Given the description of an element on the screen output the (x, y) to click on. 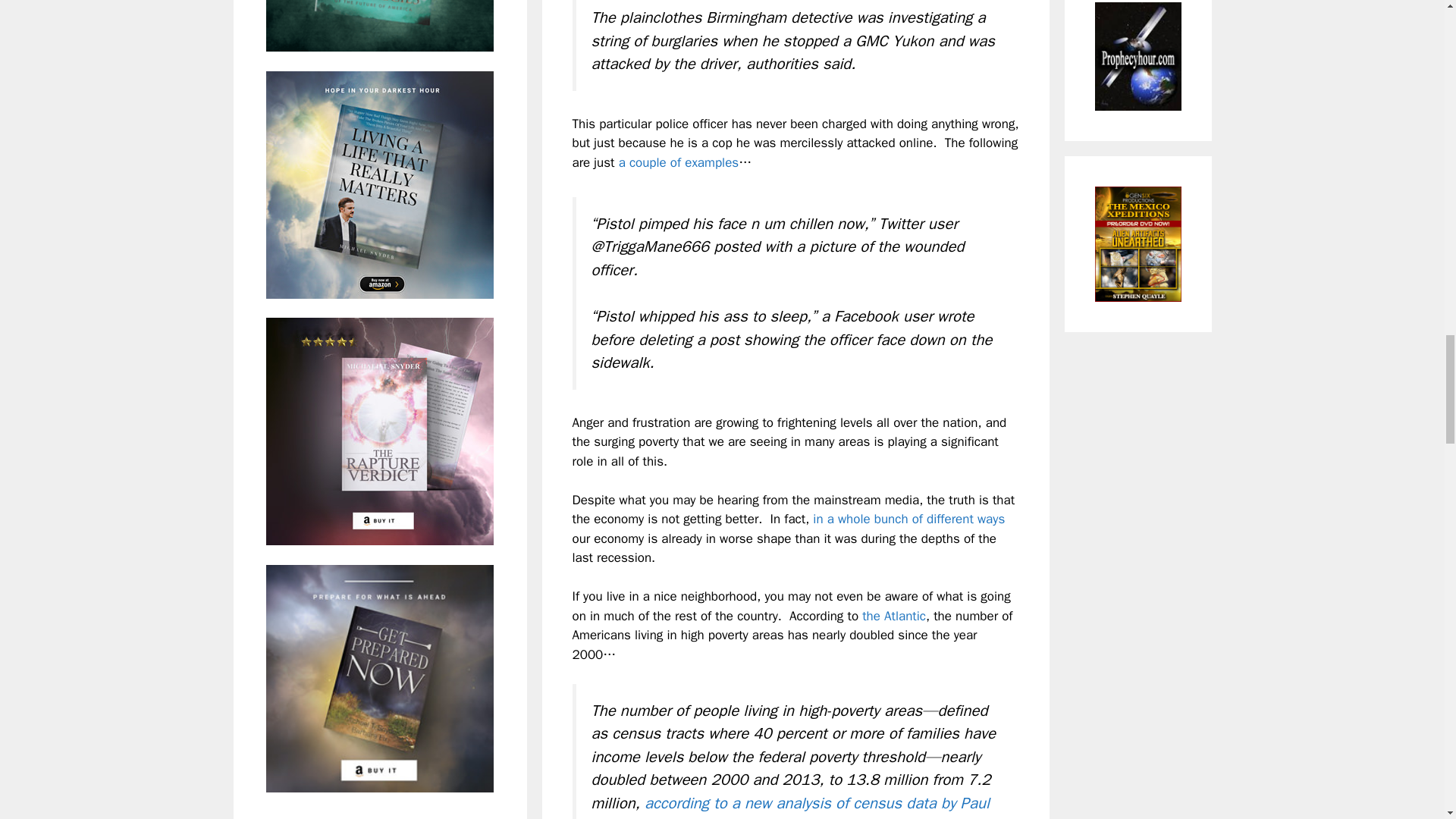
in a whole bunch of different ways (908, 519)
in a whole bunch of different ways (908, 519)
the Atlantic (893, 616)
a couple of examples (678, 162)
the Atlantic (893, 616)
according to a new analysis of census data by Paul Jargowsky (790, 806)
according to a new analysis of census data by Paul Jargowsky (790, 806)
a couple of examples (678, 162)
